Given the description of an element on the screen output the (x, y) to click on. 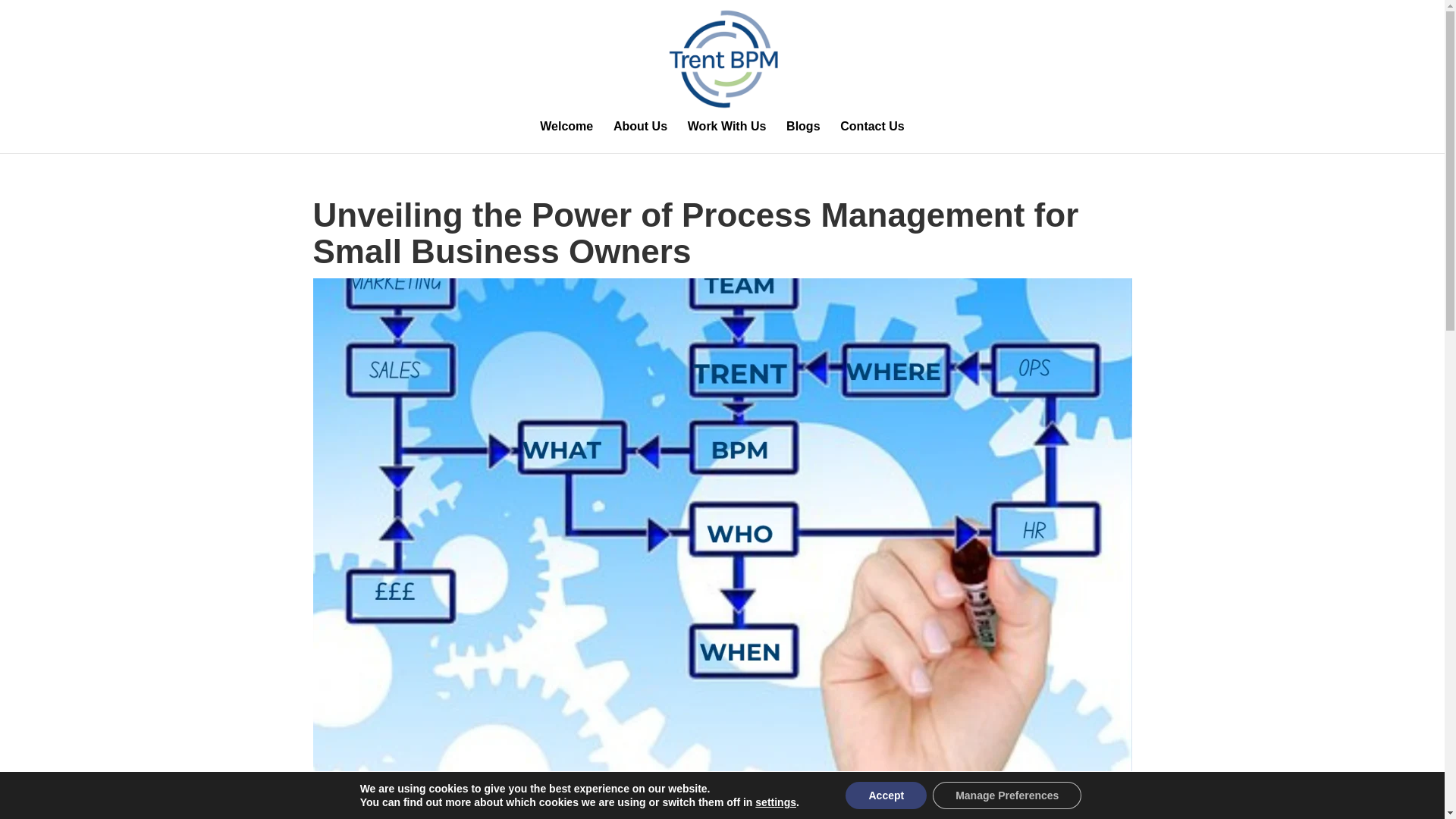
About Us (639, 137)
Contact Us (872, 137)
Welcome (566, 137)
Manage Preferences (1007, 795)
Accept (885, 795)
Blogs (802, 137)
settings (775, 802)
Work With Us (727, 137)
